Given the description of an element on the screen output the (x, y) to click on. 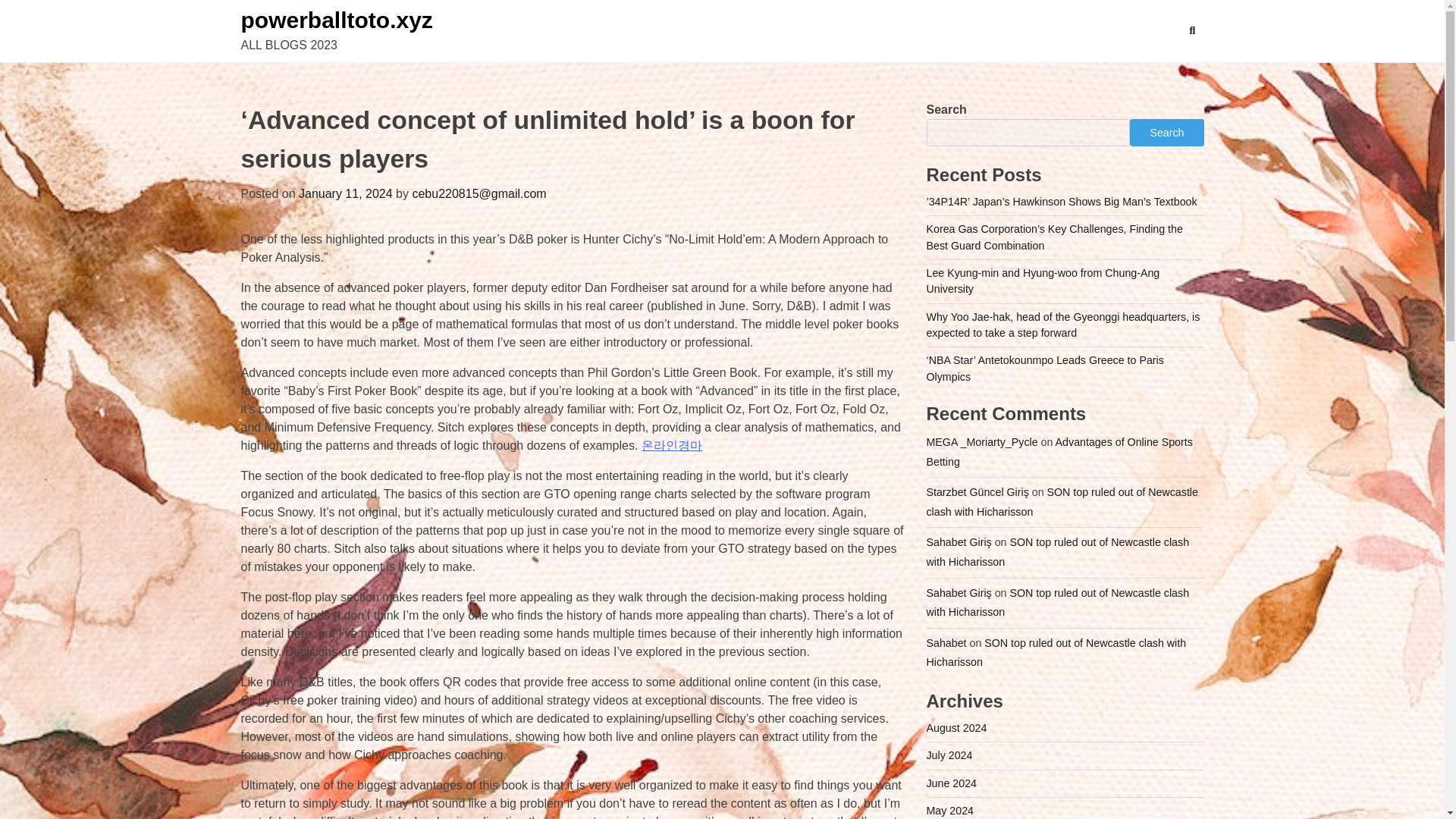
Sahabet (946, 643)
Advantages of Online Sports Betting (1059, 451)
July 2024 (949, 755)
SON top ruled out of Newcastle clash with Hicharisson (1057, 603)
powerballtoto.xyz (336, 19)
SON top ruled out of Newcastle clash with Hicharisson (1062, 501)
August 2024 (956, 727)
Search (1192, 30)
May 2024 (950, 810)
